Given the description of an element on the screen output the (x, y) to click on. 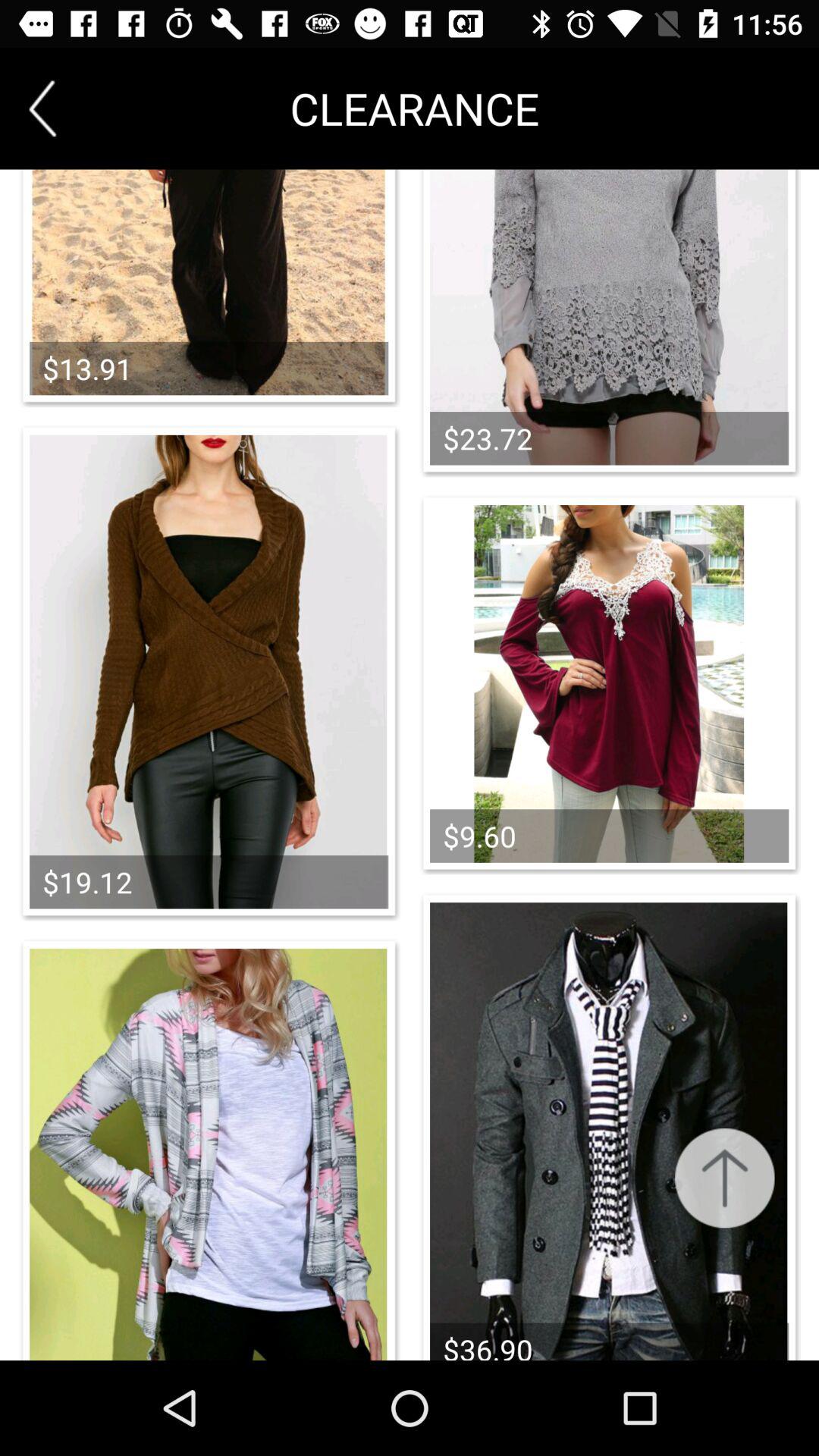
go up (724, 1177)
